Given the description of an element on the screen output the (x, y) to click on. 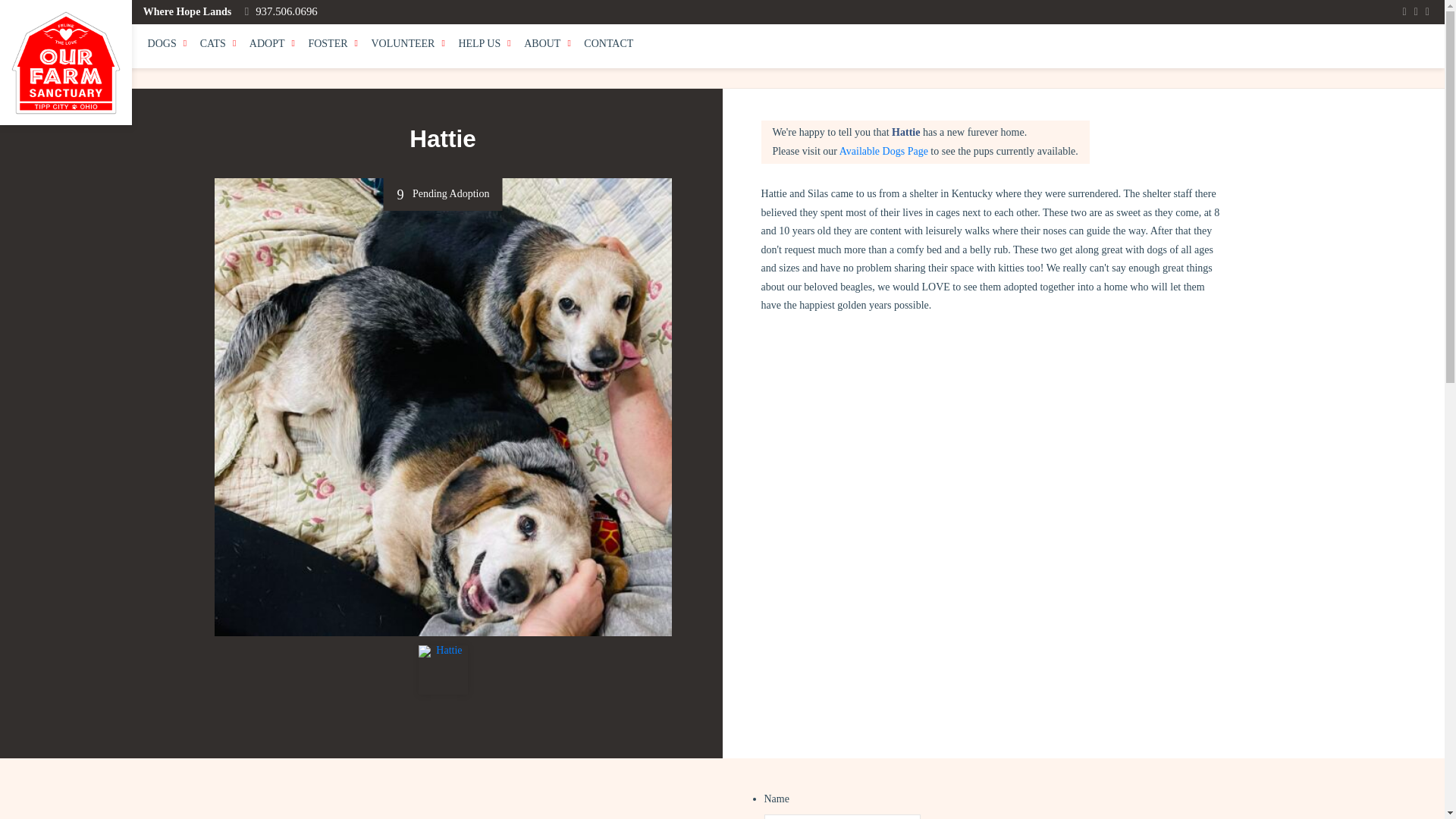
ADOPT (272, 44)
Available Dogs Page (884, 151)
VOLUNTEER (408, 44)
Our Farm Sanctuary (65, 63)
CATS (218, 44)
HELP US (485, 44)
FOSTER (333, 44)
937.506.0696 (280, 10)
